Given the description of an element on the screen output the (x, y) to click on. 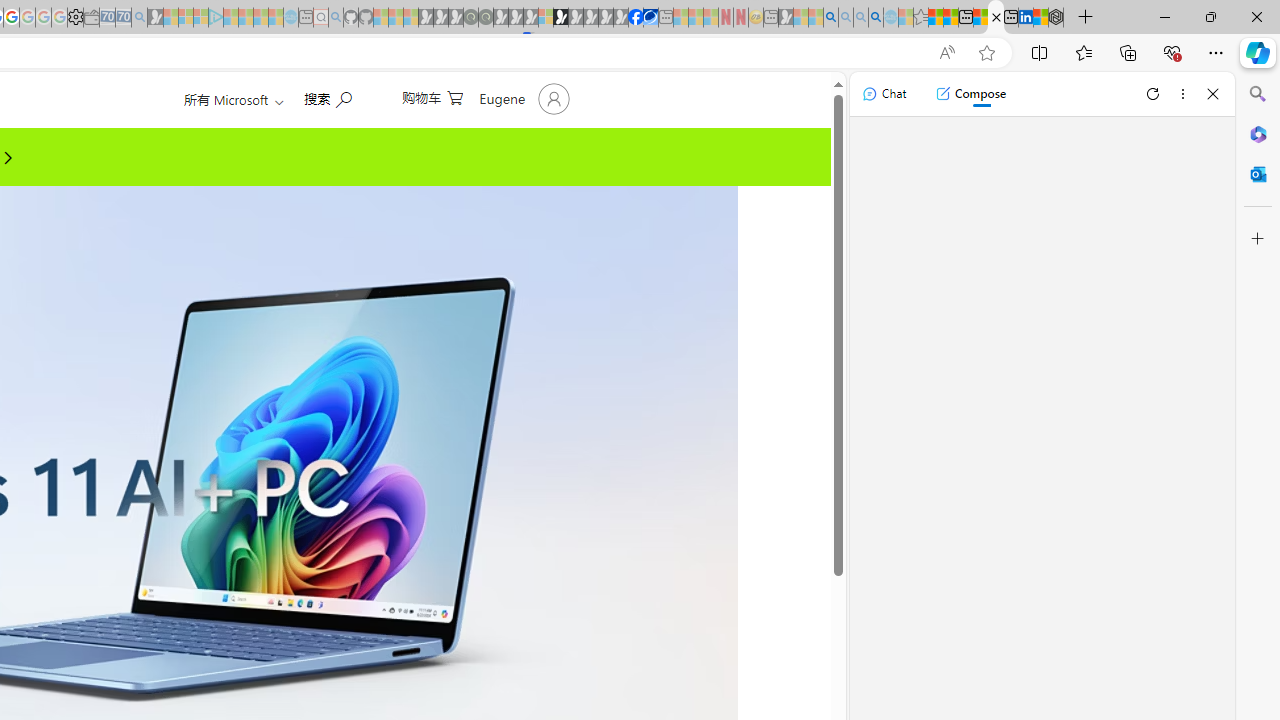
Bing AI - Search (831, 17)
Favorites - Sleeping (920, 17)
Close Outlook pane (1258, 174)
Aberdeen, Hong Kong SAR weather forecast | Microsoft Weather (950, 17)
More options (1182, 93)
Cheap Car Rentals - Save70.com - Sleeping (123, 17)
